Given the description of an element on the screen output the (x, y) to click on. 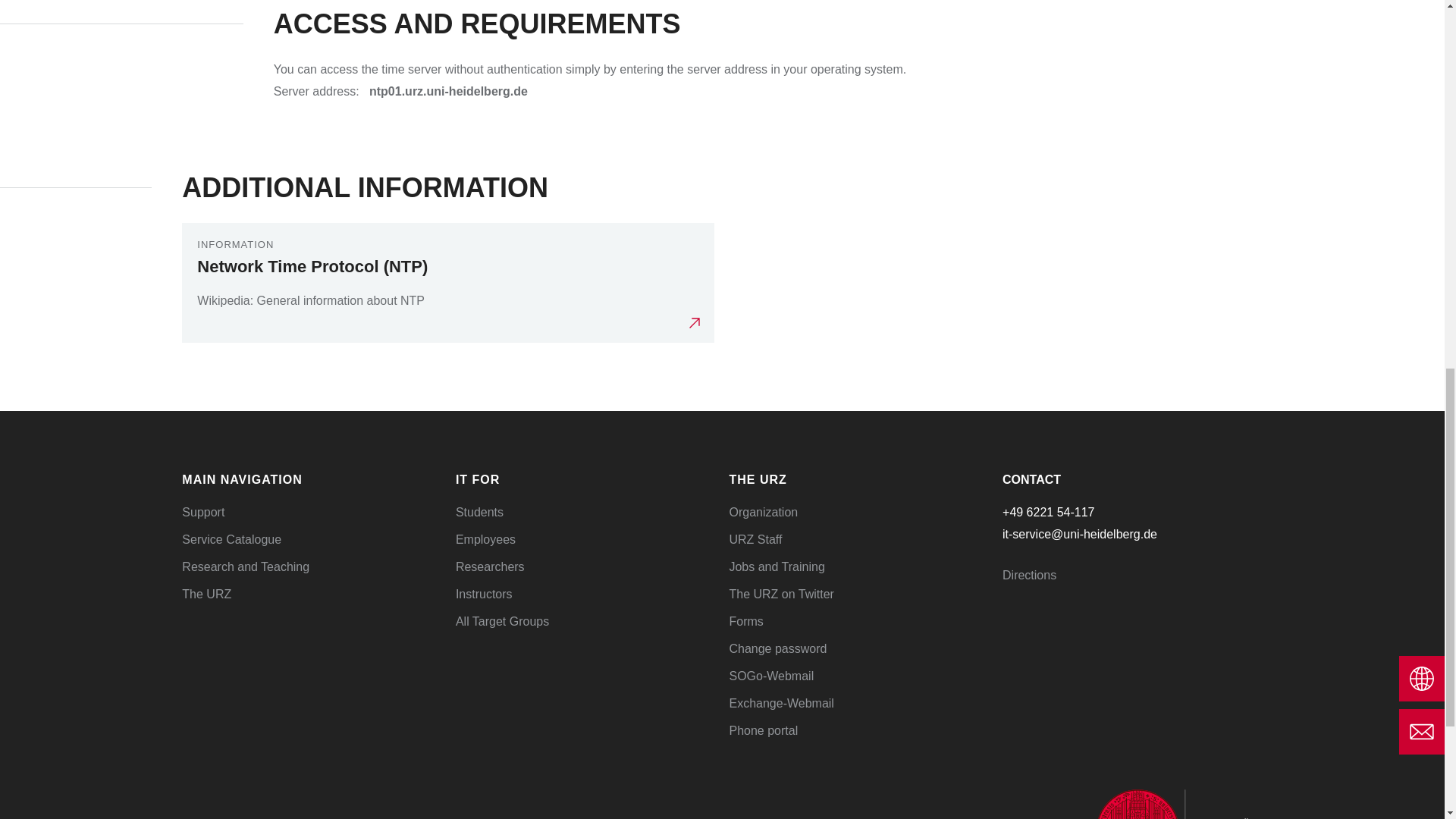
Students (479, 512)
Change password (778, 648)
Support (203, 512)
The URZ (206, 594)
The URZ on Twitter (780, 594)
URZ Staff (755, 539)
Researchers (489, 566)
Directions (1030, 574)
Exchange-Webmail (780, 703)
Service Catalogue (231, 539)
Employees (485, 539)
Instructors (483, 594)
Forms (745, 621)
Organization (763, 512)
Research and Teaching (245, 566)
